Given the description of an element on the screen output the (x, y) to click on. 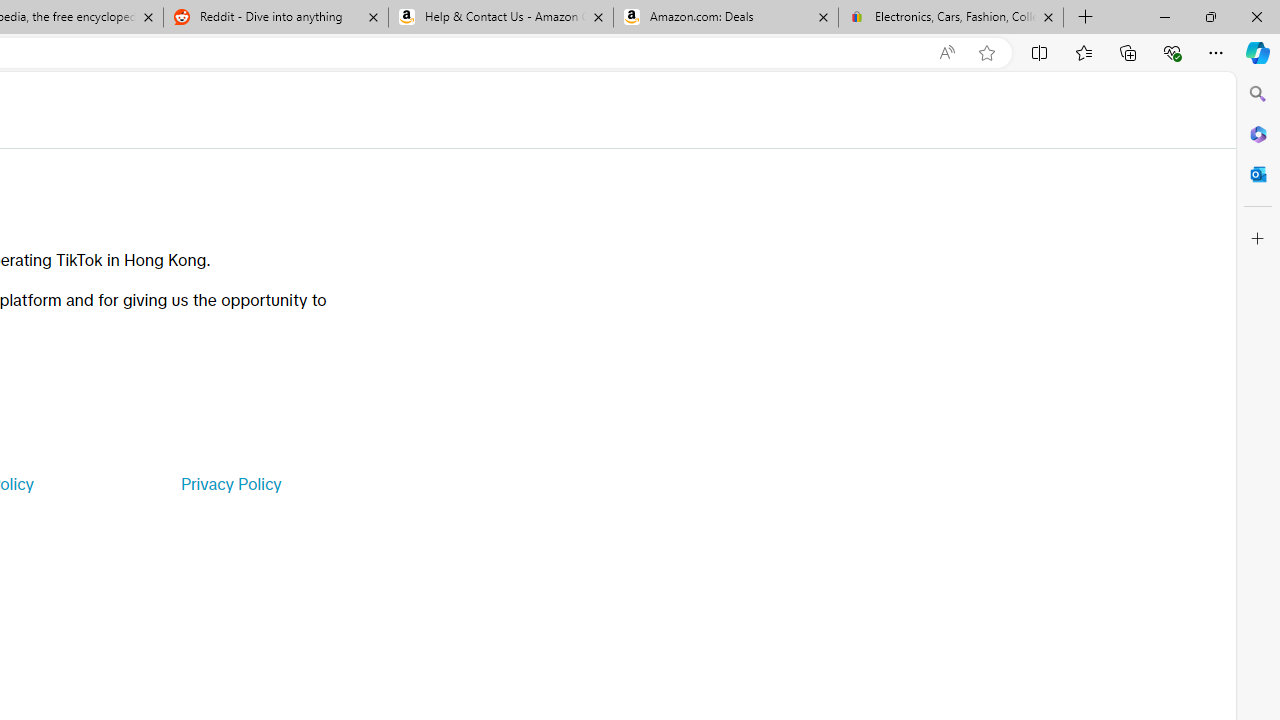
Privacy Policy (230, 484)
